Given the description of an element on the screen output the (x, y) to click on. 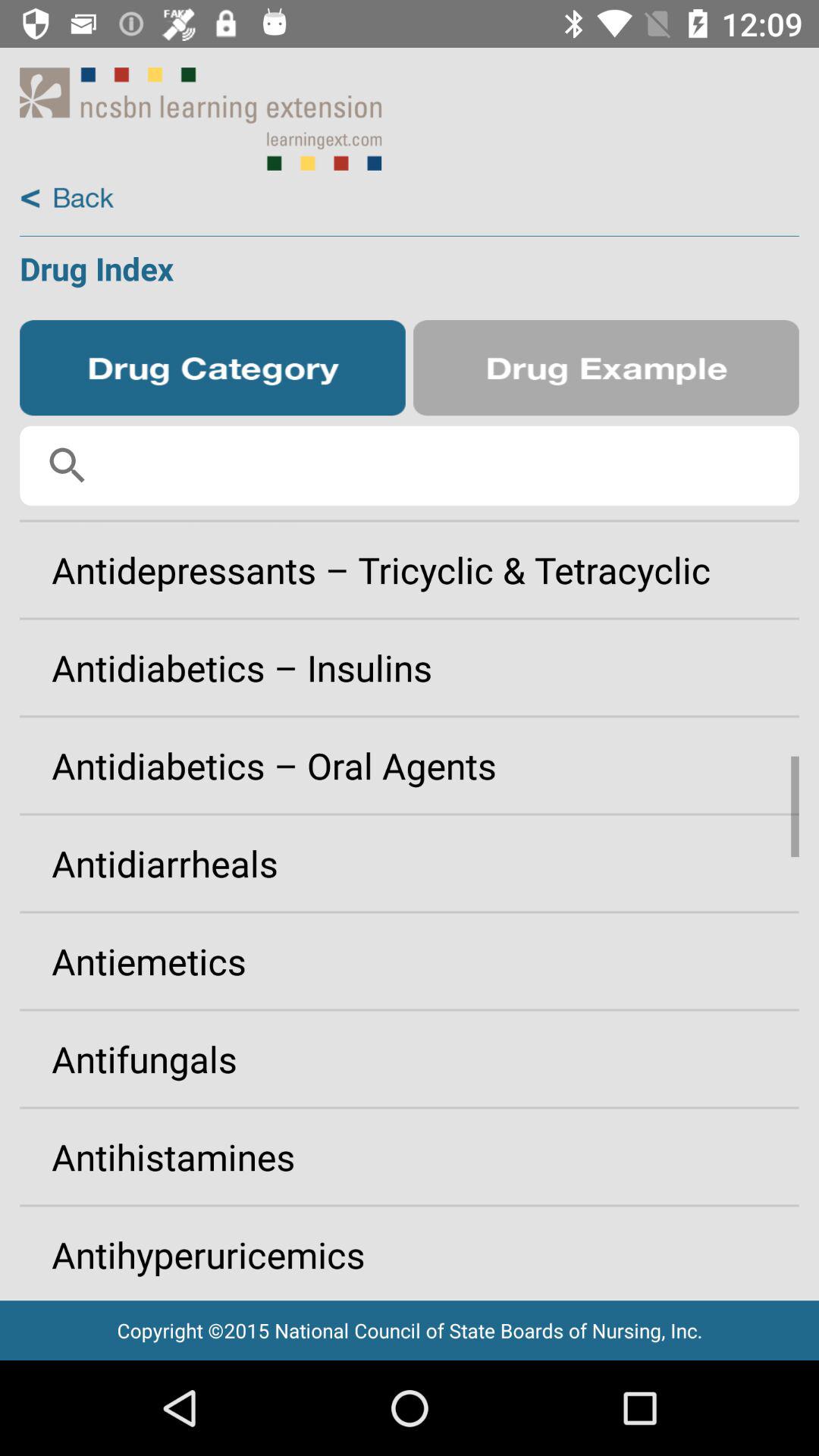
open drug example (606, 367)
